Given the description of an element on the screen output the (x, y) to click on. 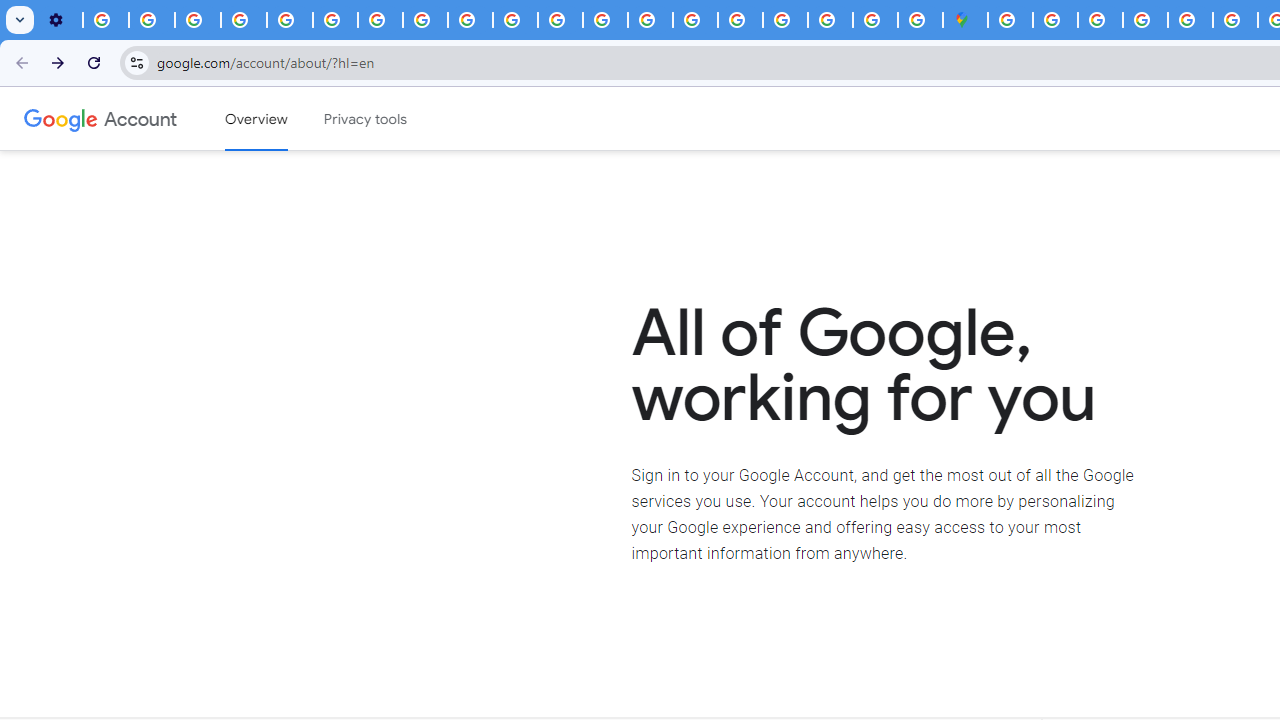
Sign in - Google Accounts (784, 20)
Google Account Help (244, 20)
Privacy Help Center - Policies Help (605, 20)
Learn how to find your photos - Google Photos Help (152, 20)
Google Account (140, 118)
Privacy Help Center - Policies Help (290, 20)
